Given the description of an element on the screen output the (x, y) to click on. 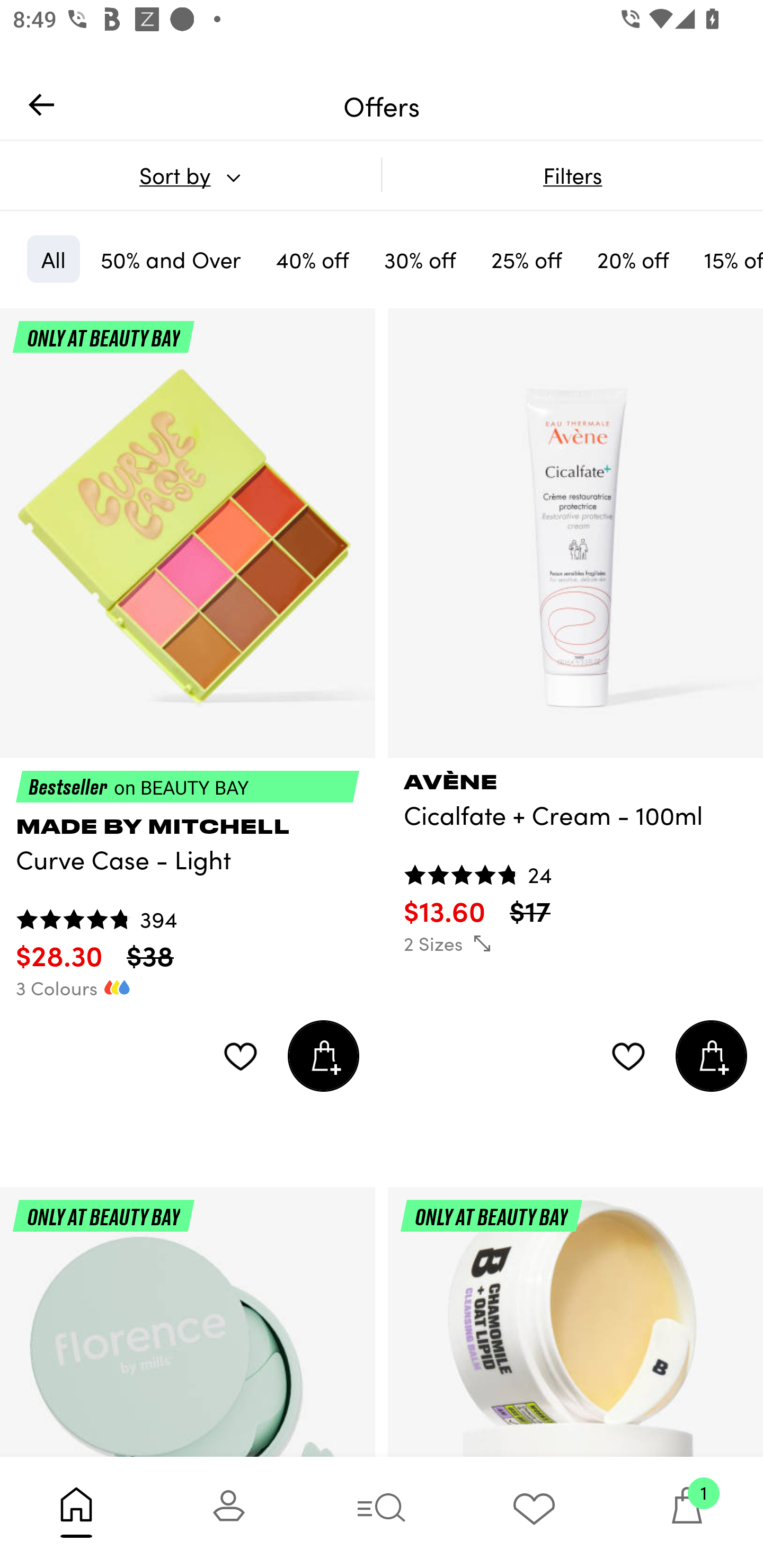
Sort by (190, 174)
Filters (572, 174)
All (53, 258)
50% and Over (170, 258)
40% off (312, 258)
30% off (420, 258)
25% off (526, 258)
20% off (632, 258)
15% off (726, 258)
1 (686, 1512)
